Given the description of an element on the screen output the (x, y) to click on. 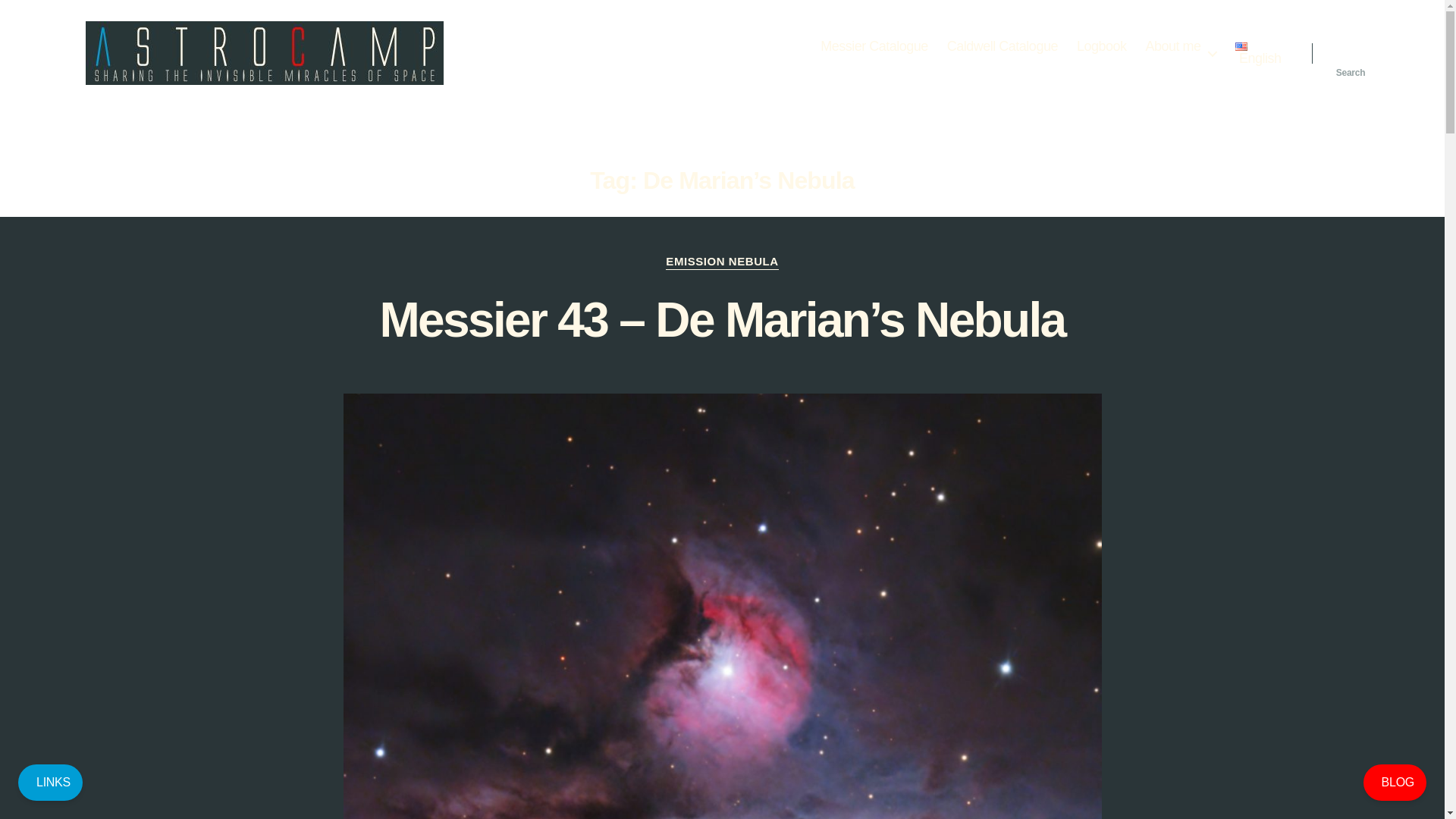
Logbook (1101, 46)
Search (1350, 52)
Caldwell Catalogue (1002, 46)
About me (1179, 46)
EMISSION NEBULA (721, 262)
Messier Catalogue (874, 46)
English (1257, 54)
